Given the description of an element on the screen output the (x, y) to click on. 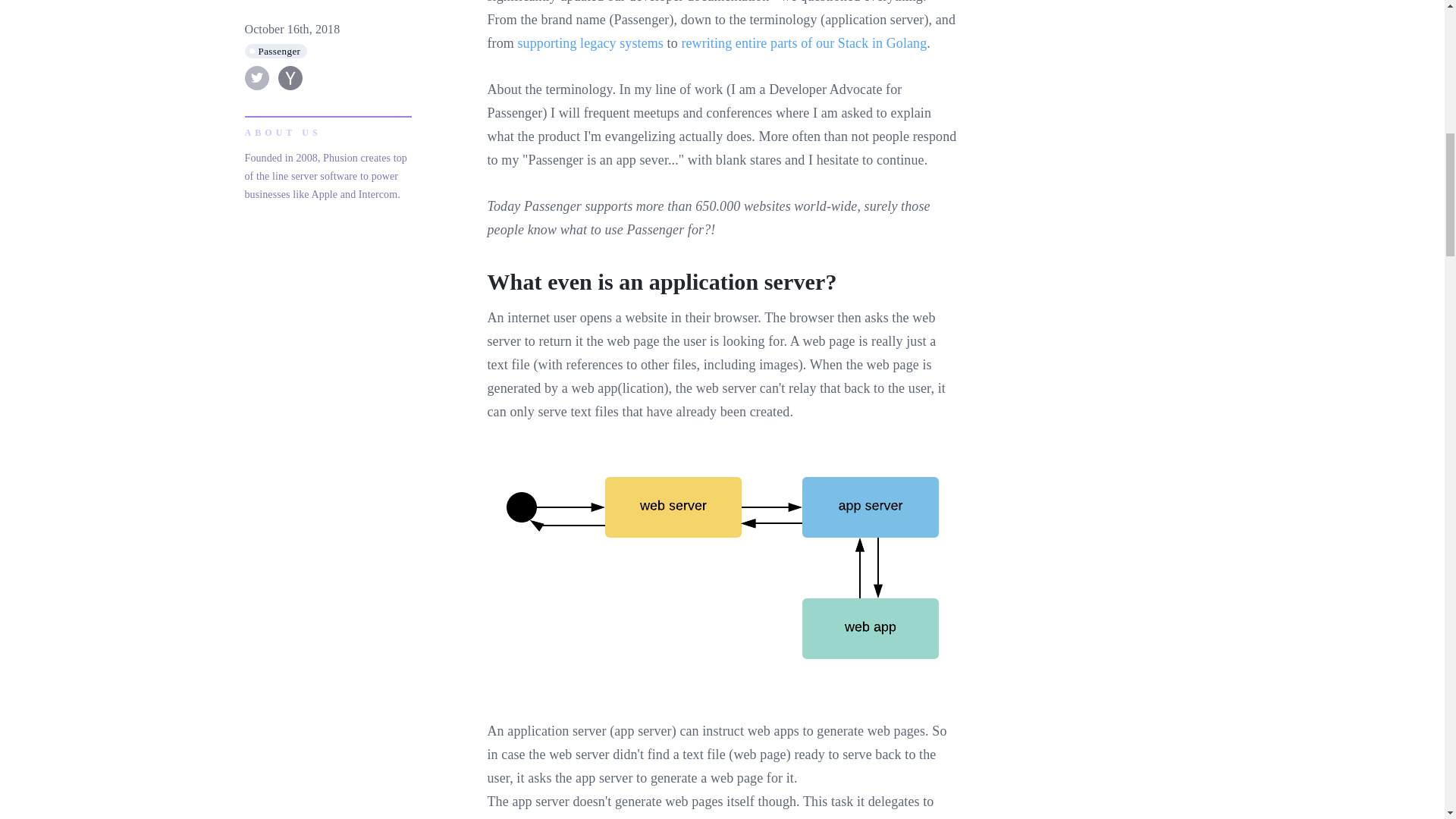
supporting legacy systems (589, 43)
rewriting entire parts of our Stack in Golang (803, 43)
